Given the description of an element on the screen output the (x, y) to click on. 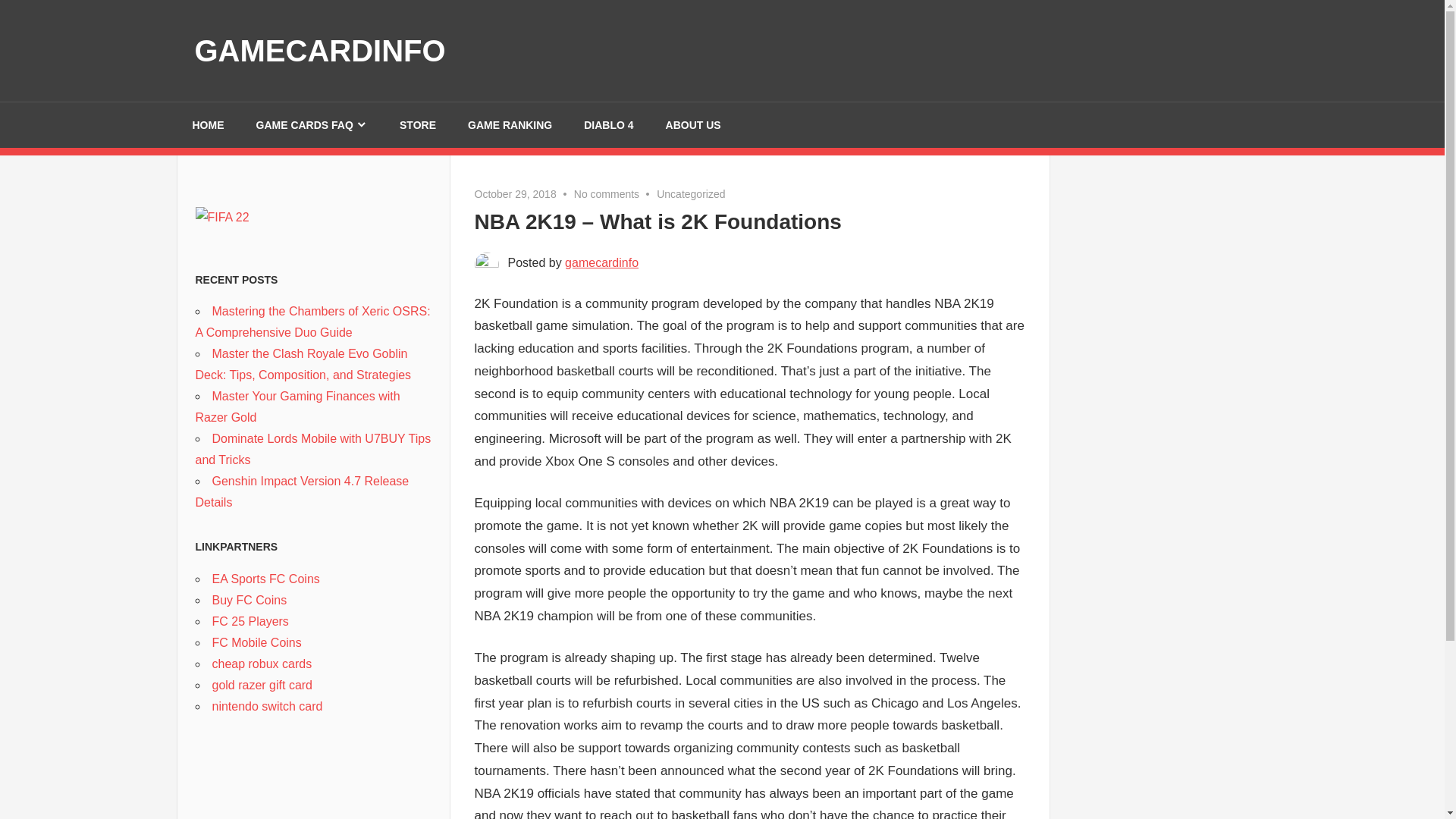
Master Your Gaming Finances with Razer Gold (297, 406)
cheap robux cards (262, 662)
Genshin Impact Version 4.7 Release Details (302, 491)
Uncategorized (690, 193)
Dominate Lords Mobile with U7BUY Tips and Tricks (312, 449)
6:00 am (515, 193)
GAMECARDINFO (319, 50)
